Given the description of an element on the screen output the (x, y) to click on. 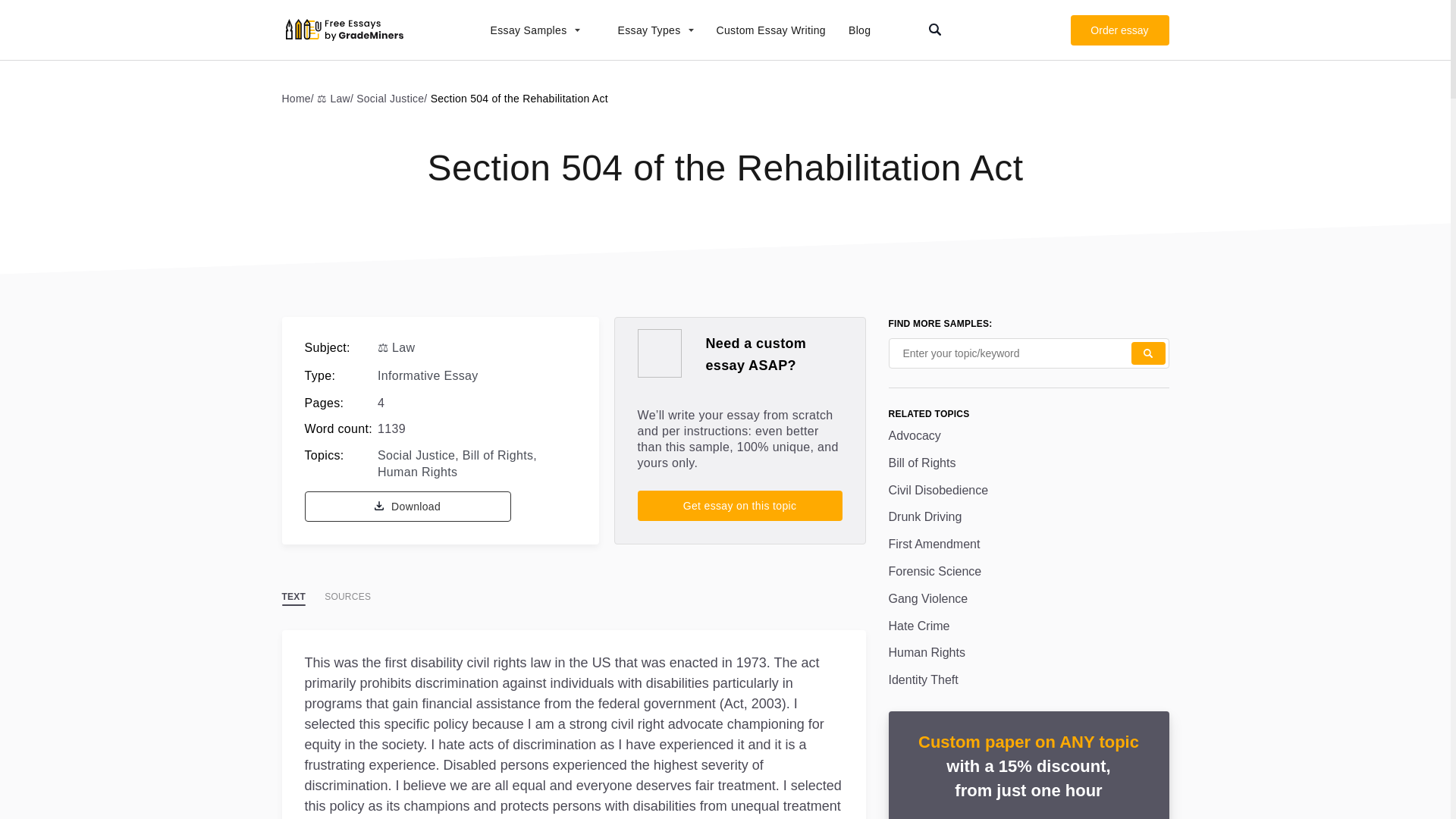
Essay Samples (526, 30)
Go to Examples. (299, 97)
Go to the Social Justice Example Category archives. (392, 97)
Essay Types (648, 30)
Search (1148, 353)
